Given the description of an element on the screen output the (x, y) to click on. 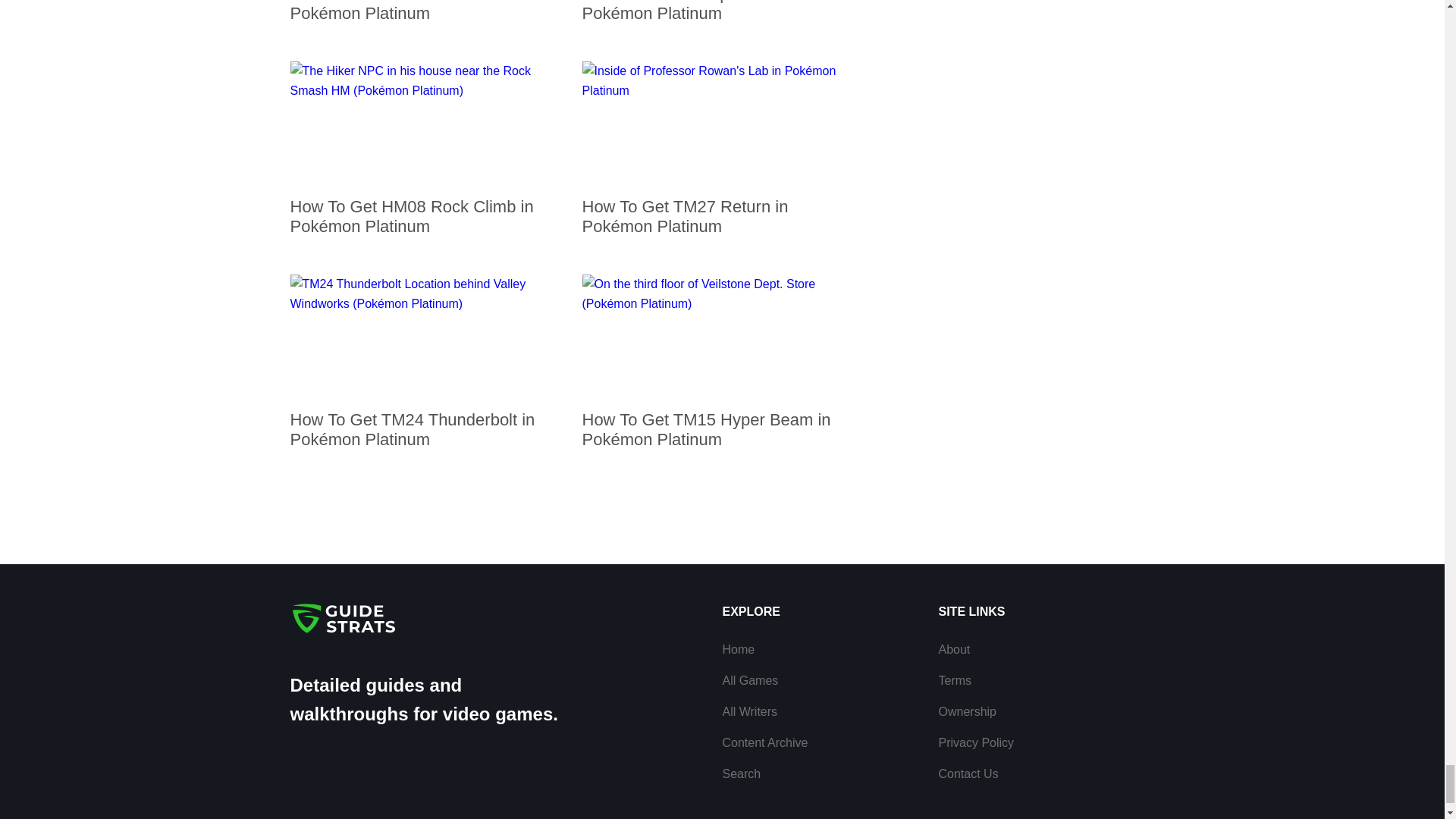
Search (741, 773)
All Games (749, 680)
Privacy Policy (976, 742)
Terms (955, 680)
Ownership (967, 711)
Content Archive (765, 742)
Home (738, 649)
Contact Us (968, 773)
About (955, 649)
All Writers (749, 711)
